Given the description of an element on the screen output the (x, y) to click on. 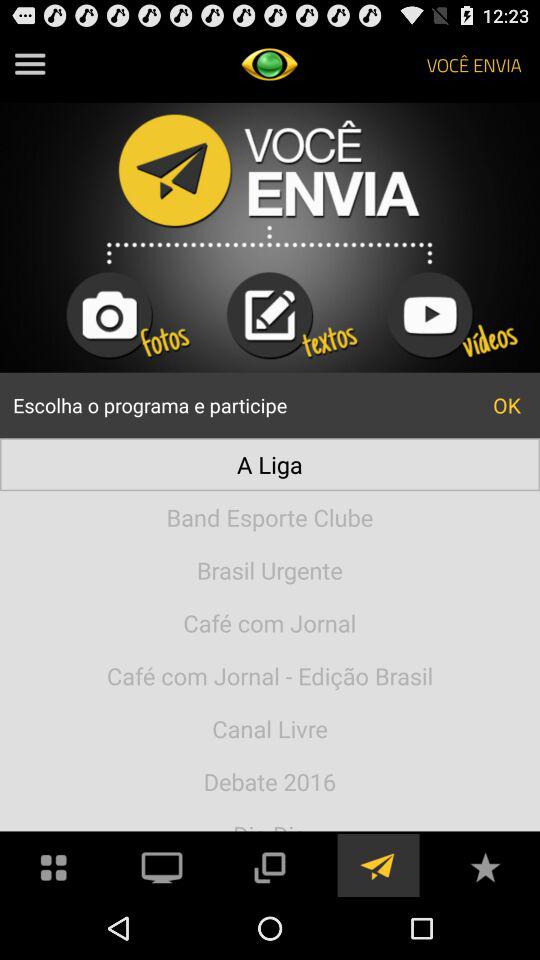
display menu options (29, 64)
